Given the description of an element on the screen output the (x, y) to click on. 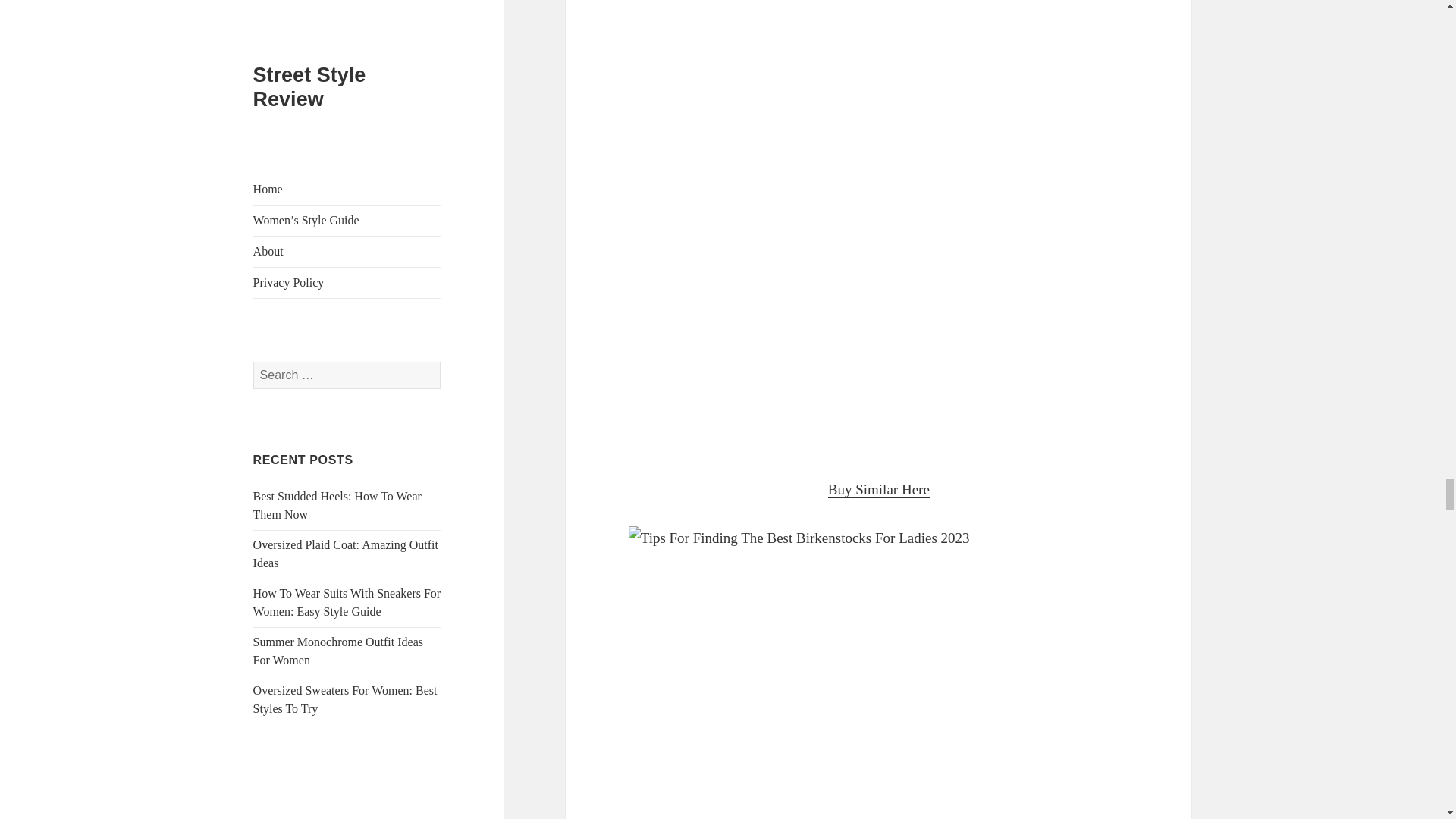
Buy Similar Here (879, 489)
